Given the description of an element on the screen output the (x, y) to click on. 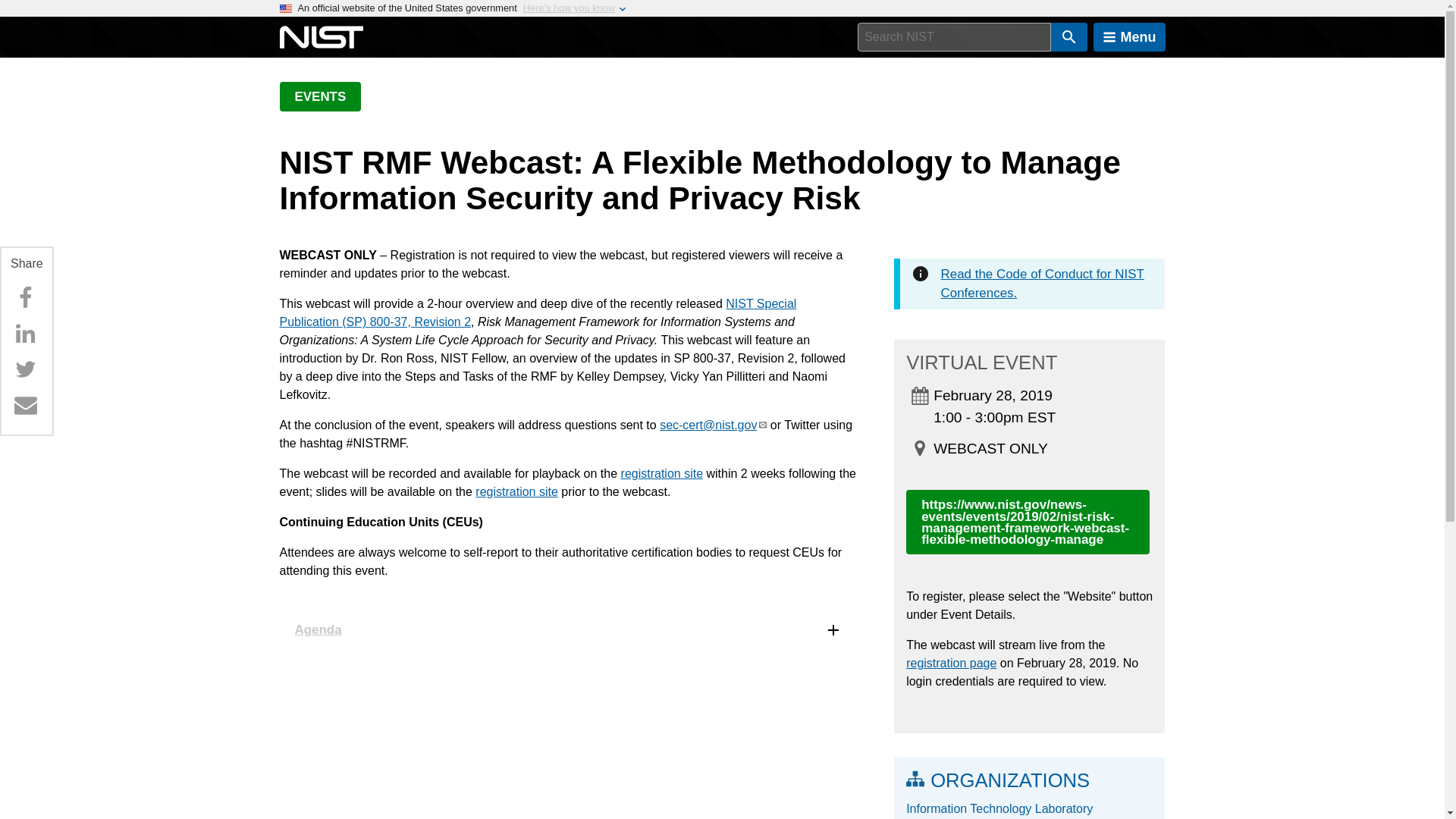
National Institute of Standards and Technology (320, 36)
Information Technology Laboratory (1029, 809)
EVENTS (320, 96)
registration page (950, 662)
Linkedin (25, 333)
Email (25, 404)
Twitter (25, 368)
registration site (516, 491)
Menu (1129, 36)
Agenda (568, 629)
Read the Code of Conduct for NIST Conferences. (1041, 283)
registration site (662, 472)
Facebook (25, 297)
